Given the description of an element on the screen output the (x, y) to click on. 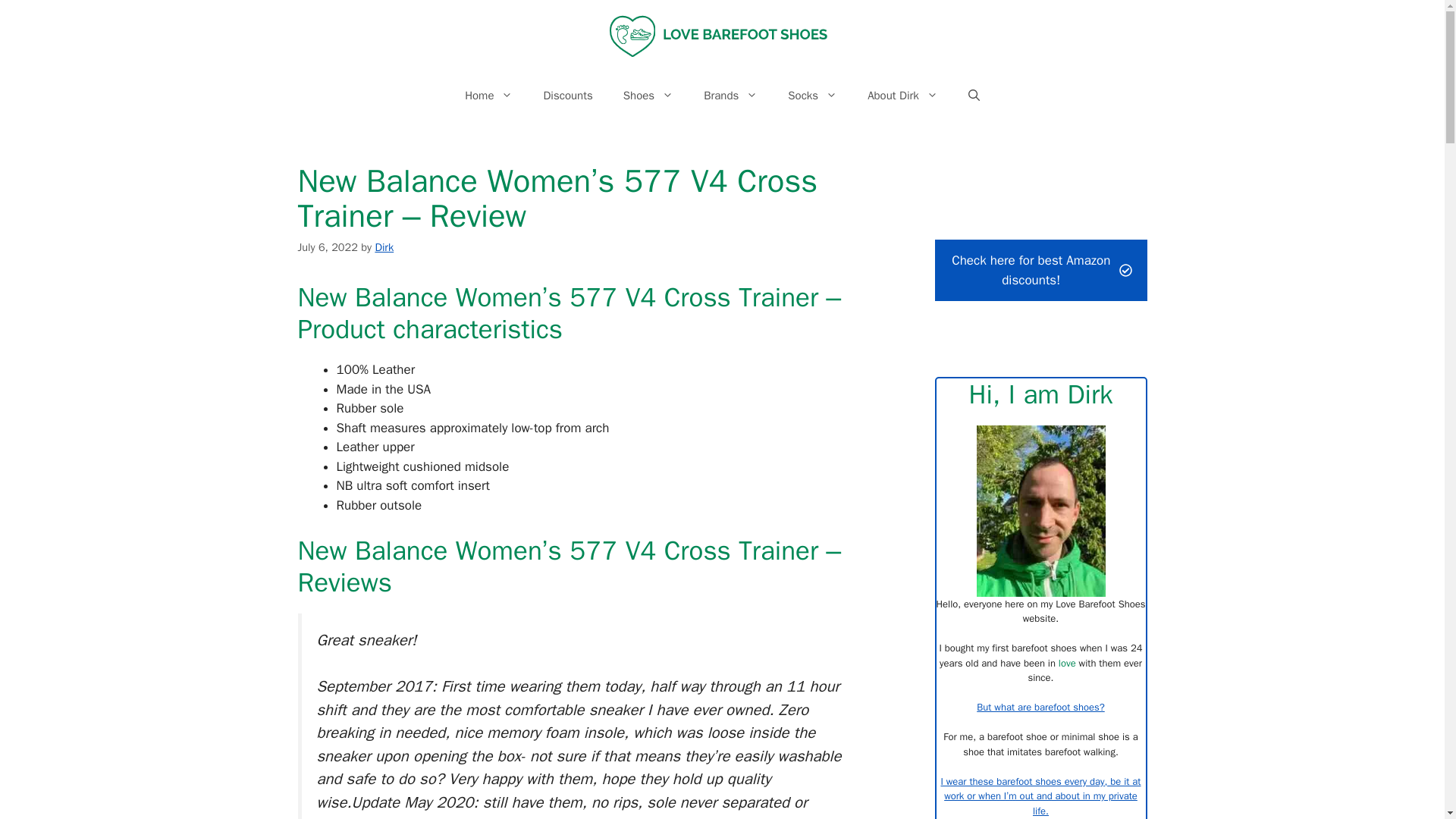
View all posts by Dirk (383, 246)
